Given the description of an element on the screen output the (x, y) to click on. 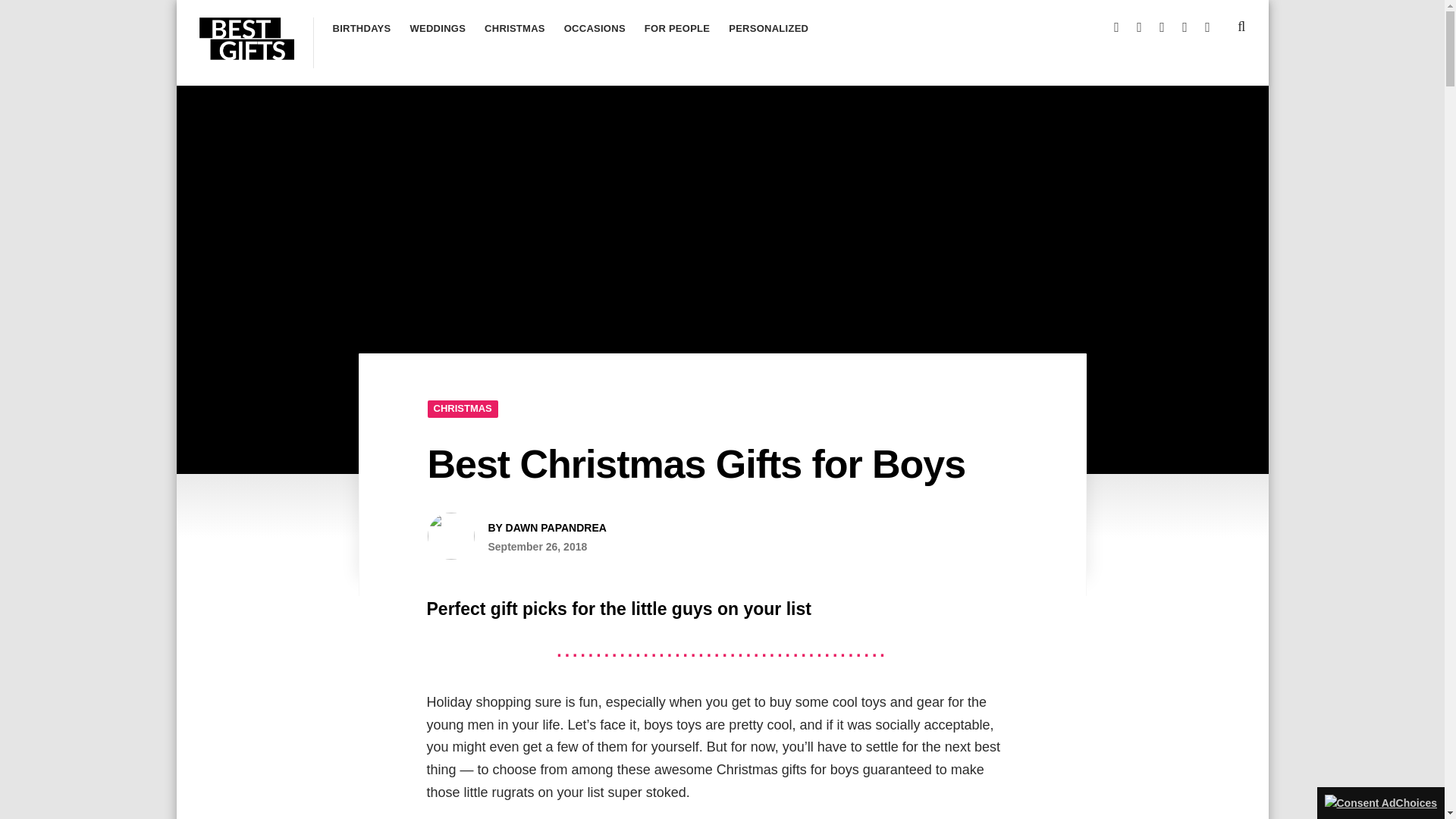
BESTGIFTS.COM (279, 83)
Flipboard (1203, 24)
Pinterest (1181, 24)
FOR PEOPLE (677, 32)
September 26, 2018 (537, 546)
Flipboard (1203, 24)
Instagram (1112, 24)
CHRISTMAS (462, 408)
Twitter (1135, 24)
OCCASIONS (595, 32)
PERSONALIZED (768, 32)
Instagram (1112, 24)
BIRTHDAYS (360, 32)
SEARCH (1240, 26)
Facebook (1158, 24)
